Given the description of an element on the screen output the (x, y) to click on. 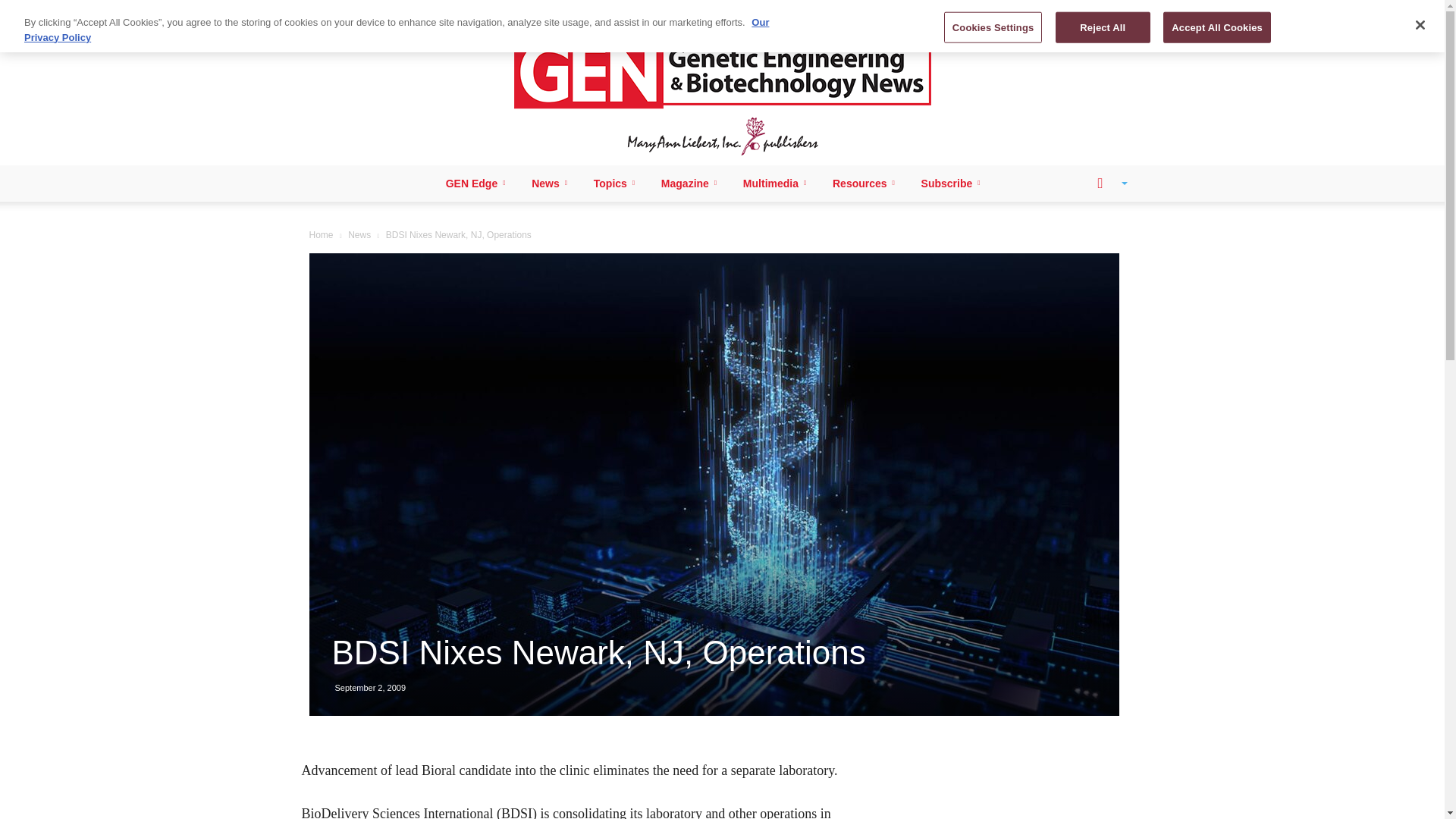
Facebook (328, 10)
RSS (379, 10)
View all posts in News (359, 235)
Twitter (403, 10)
Youtube (429, 10)
Linkedin (353, 10)
